Given the description of an element on the screen output the (x, y) to click on. 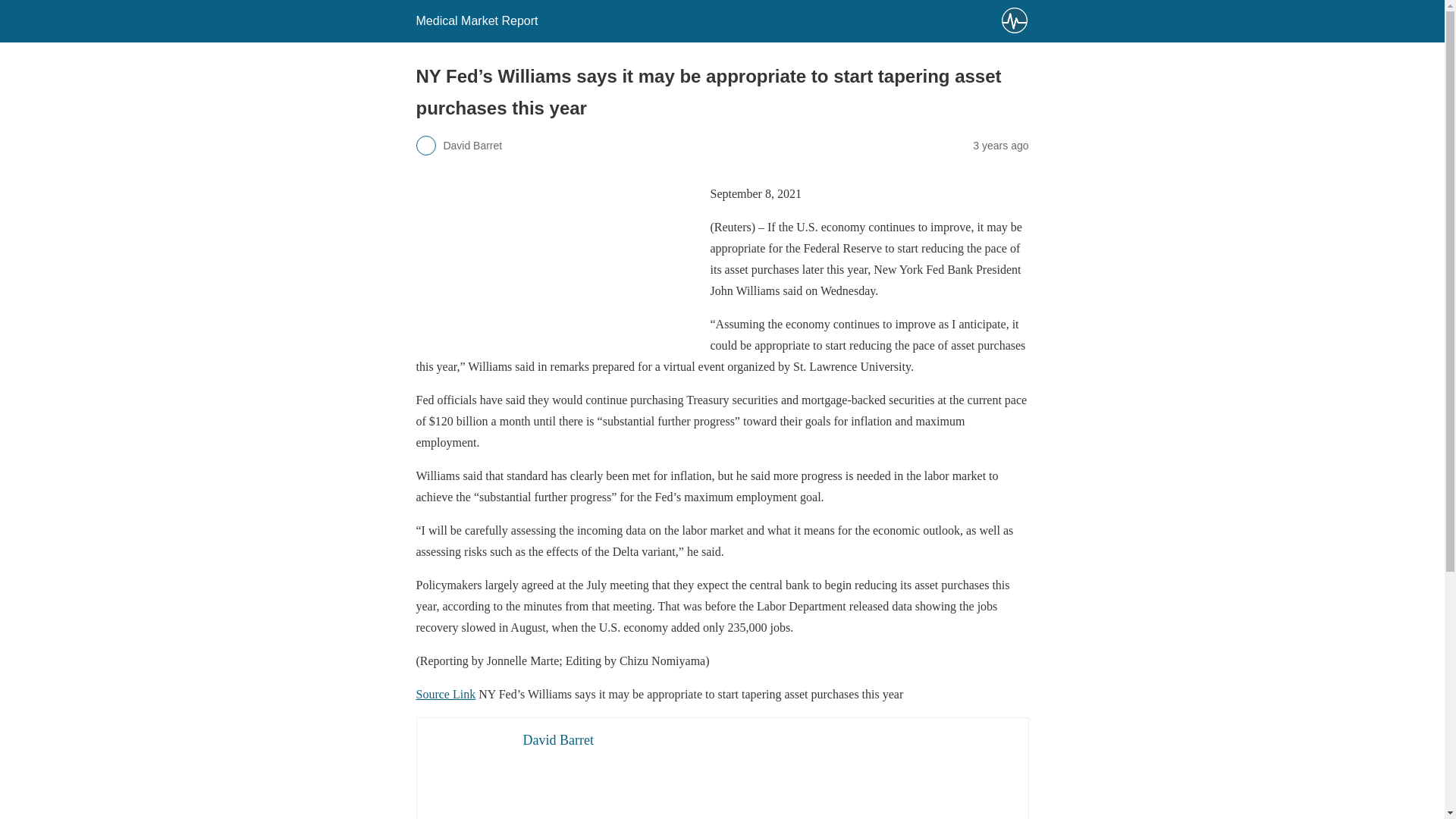
Medical Market Report (475, 20)
Source Link (445, 694)
David Barret (558, 739)
